Given the description of an element on the screen output the (x, y) to click on. 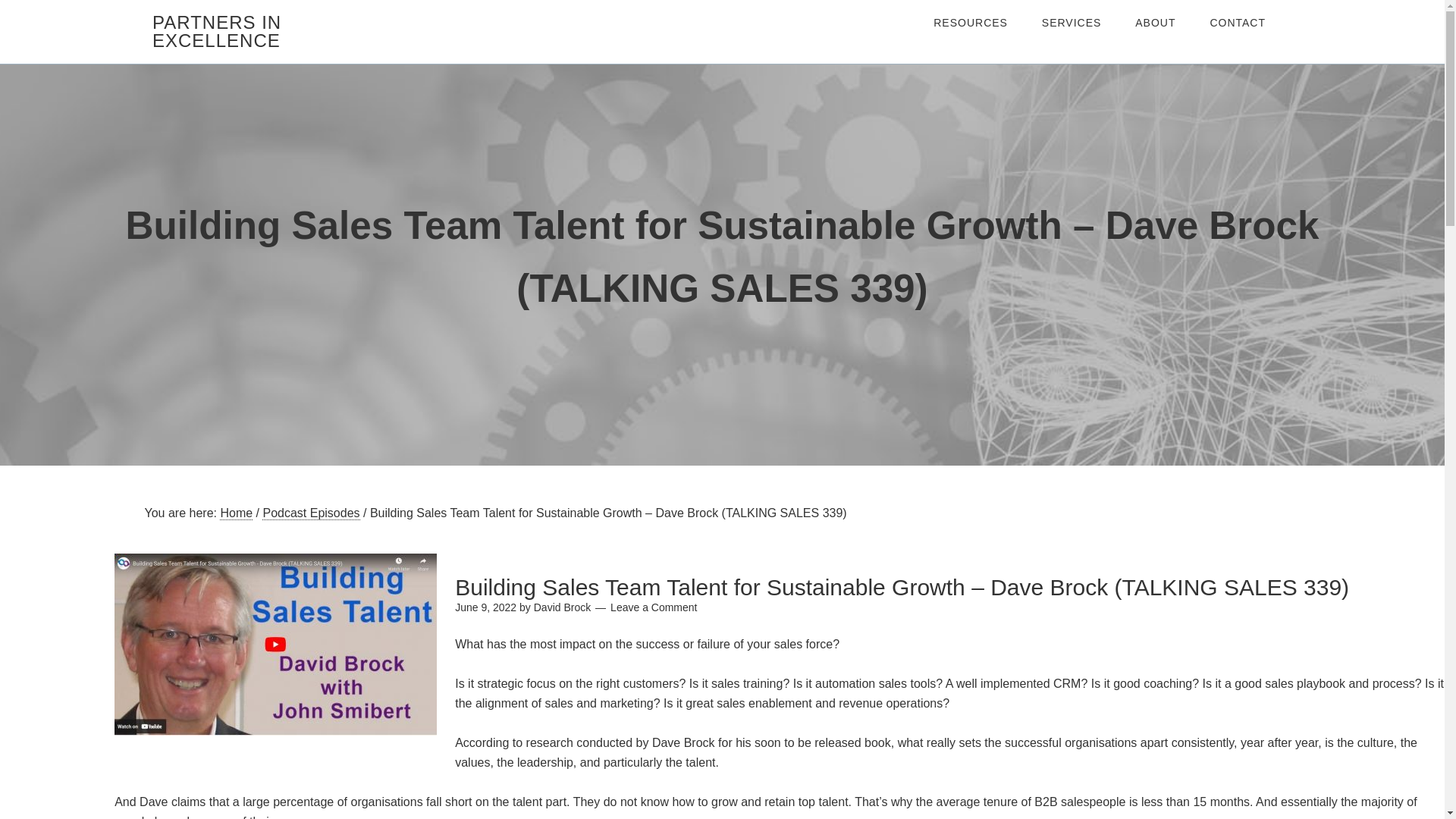
Leave a Comment (653, 607)
PARTNERS IN EXCELLENCE (216, 31)
ABOUT (1155, 22)
RESOURCES (970, 22)
SERVICES (1071, 22)
Podcast Episodes (310, 513)
David Brock (562, 607)
CONTACT (1237, 22)
Home (235, 513)
